Given the description of an element on the screen output the (x, y) to click on. 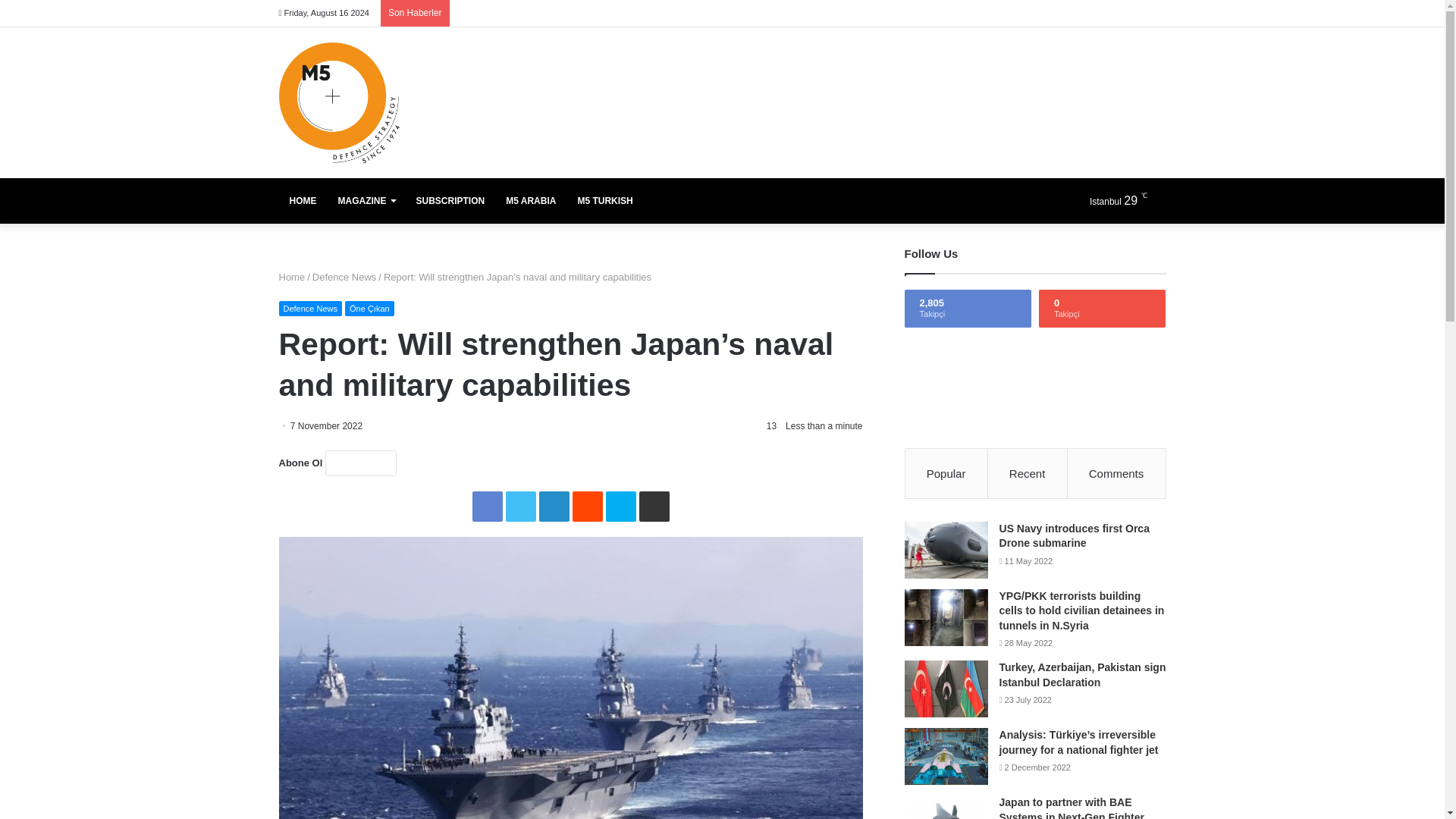
LinkedIn (553, 506)
Abone Ol (360, 462)
HOME (303, 200)
Twitter (520, 506)
MAGAZINE (366, 200)
Skype (619, 506)
Defence News (345, 276)
M5 ARABIA (530, 200)
Defence News (310, 308)
Reddit (587, 506)
